Given the description of an element on the screen output the (x, y) to click on. 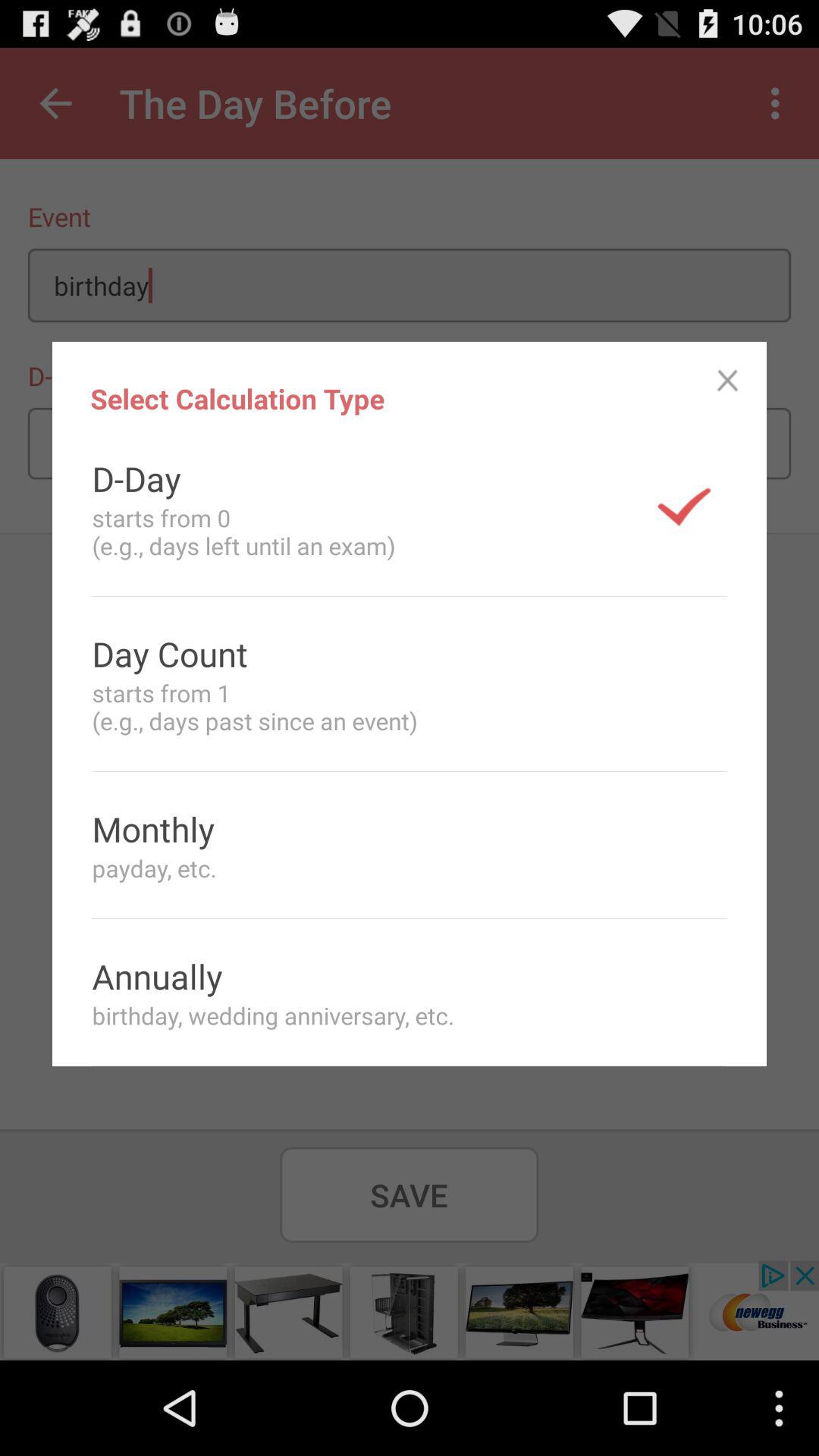
close the window (727, 380)
